Given the description of an element on the screen output the (x, y) to click on. 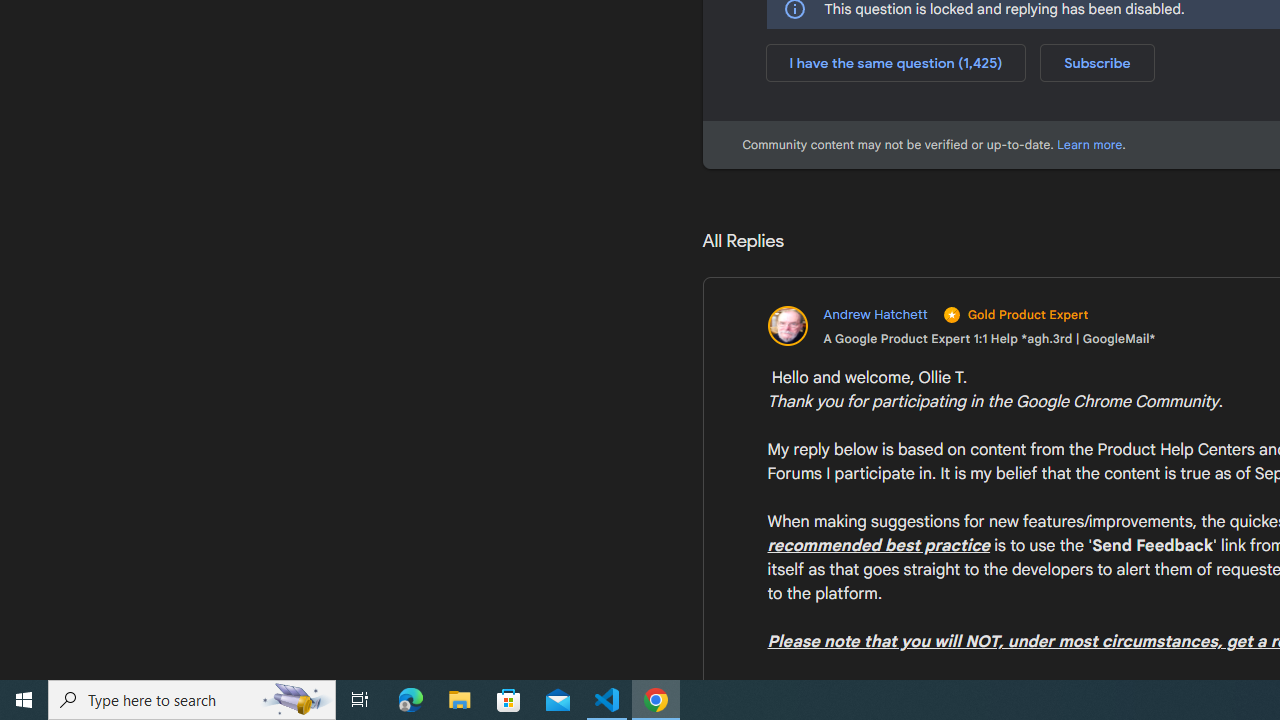
Community content may not be verified or up-to-date. (1089, 143)
View profile for Andrew Hatchett (960, 326)
Subscribe (1097, 62)
I have the same question (1,425) (895, 62)
